Given the description of an element on the screen output the (x, y) to click on. 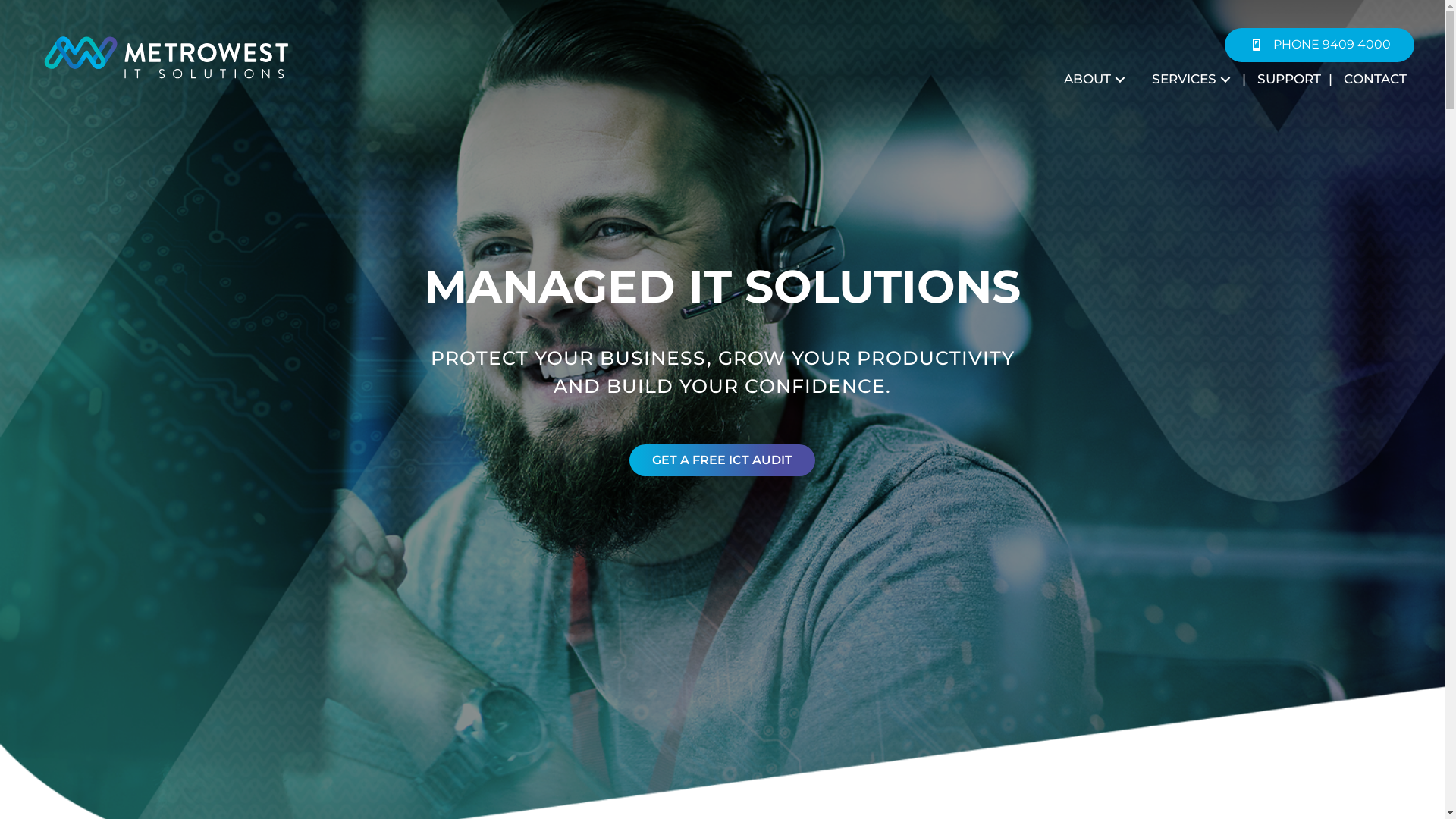
SUPPORT Element type: text (1285, 79)
PHONE 9409 4000 Element type: text (1319, 45)
CONTACT Element type: text (1371, 79)
ABOUT Element type: text (1092, 79)
SERVICES Element type: text (1189, 79)
GET A FREE ICT AUDIT Element type: text (722, 460)
